Given the description of an element on the screen output the (x, y) to click on. 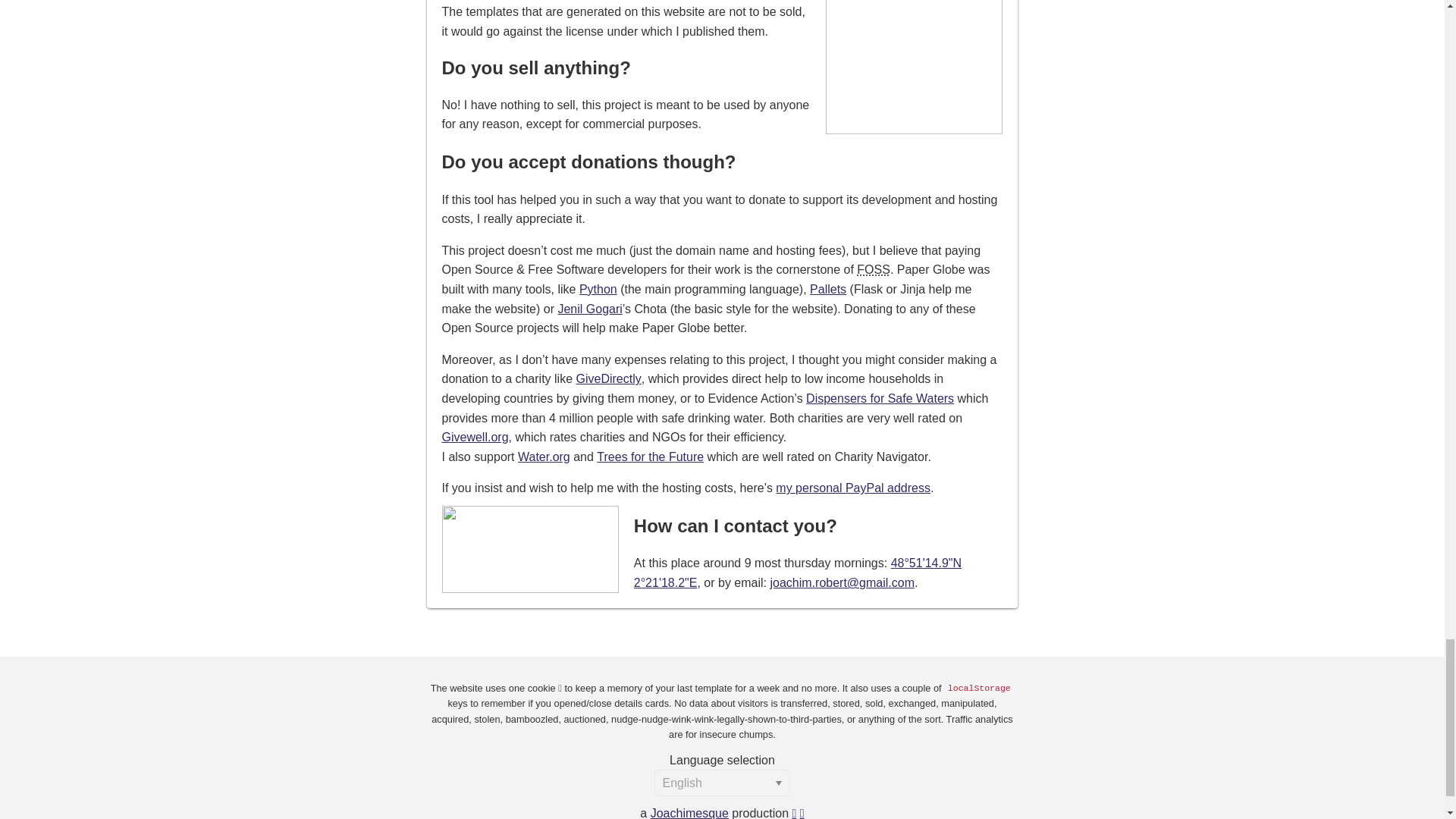
Joachimesque (689, 812)
Jenil Gogari (589, 308)
Givewell.org (474, 436)
Pallets (827, 288)
GiveDirectly (609, 378)
Water.org (544, 456)
Dispensers for Safe Waters (879, 398)
Trees for the Future (649, 456)
Python (598, 288)
my personal PayPal address (853, 487)
